Given the description of an element on the screen output the (x, y) to click on. 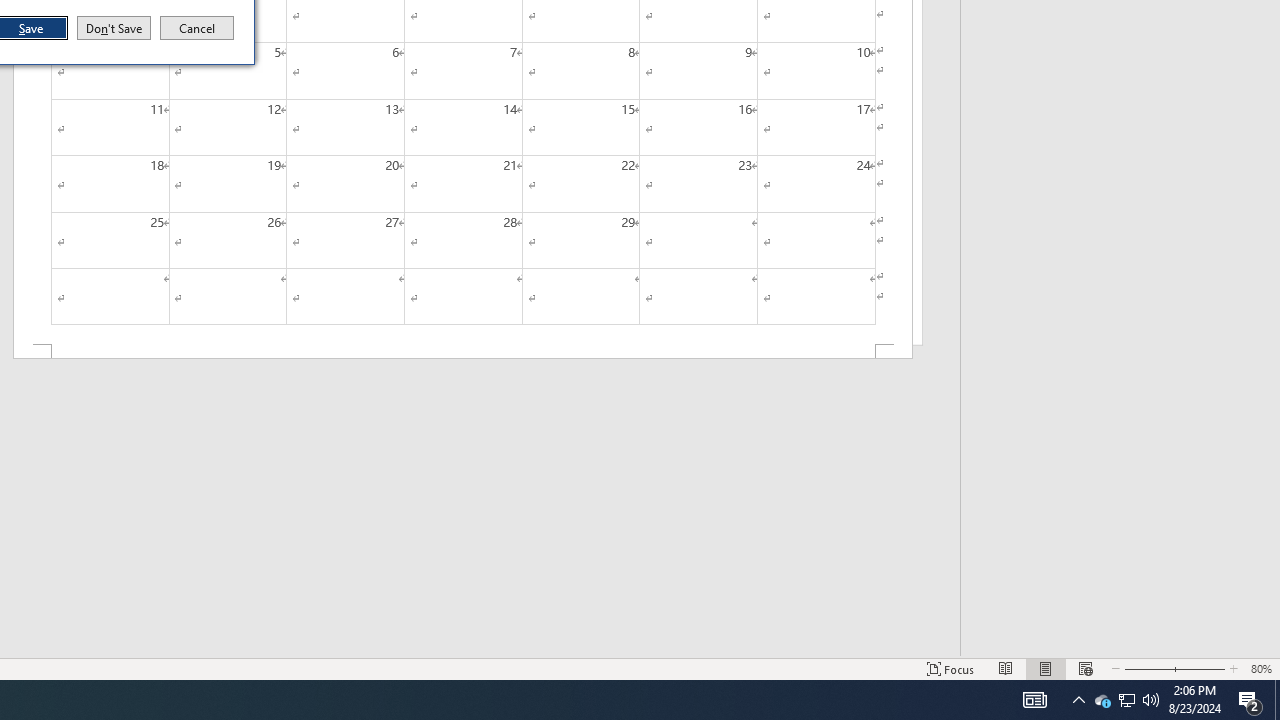
Notification Chevron (1078, 699)
Don't Save (113, 27)
Focus  (951, 668)
Cancel (197, 27)
User Promoted Notification Area (1126, 699)
Read Mode (1005, 668)
Q2790: 100% (1151, 699)
Zoom In (1126, 699)
Zoom Out (1195, 668)
Web Layout (1143, 668)
Show desktop (1085, 668)
Print Layout (1277, 699)
